Given the description of an element on the screen output the (x, y) to click on. 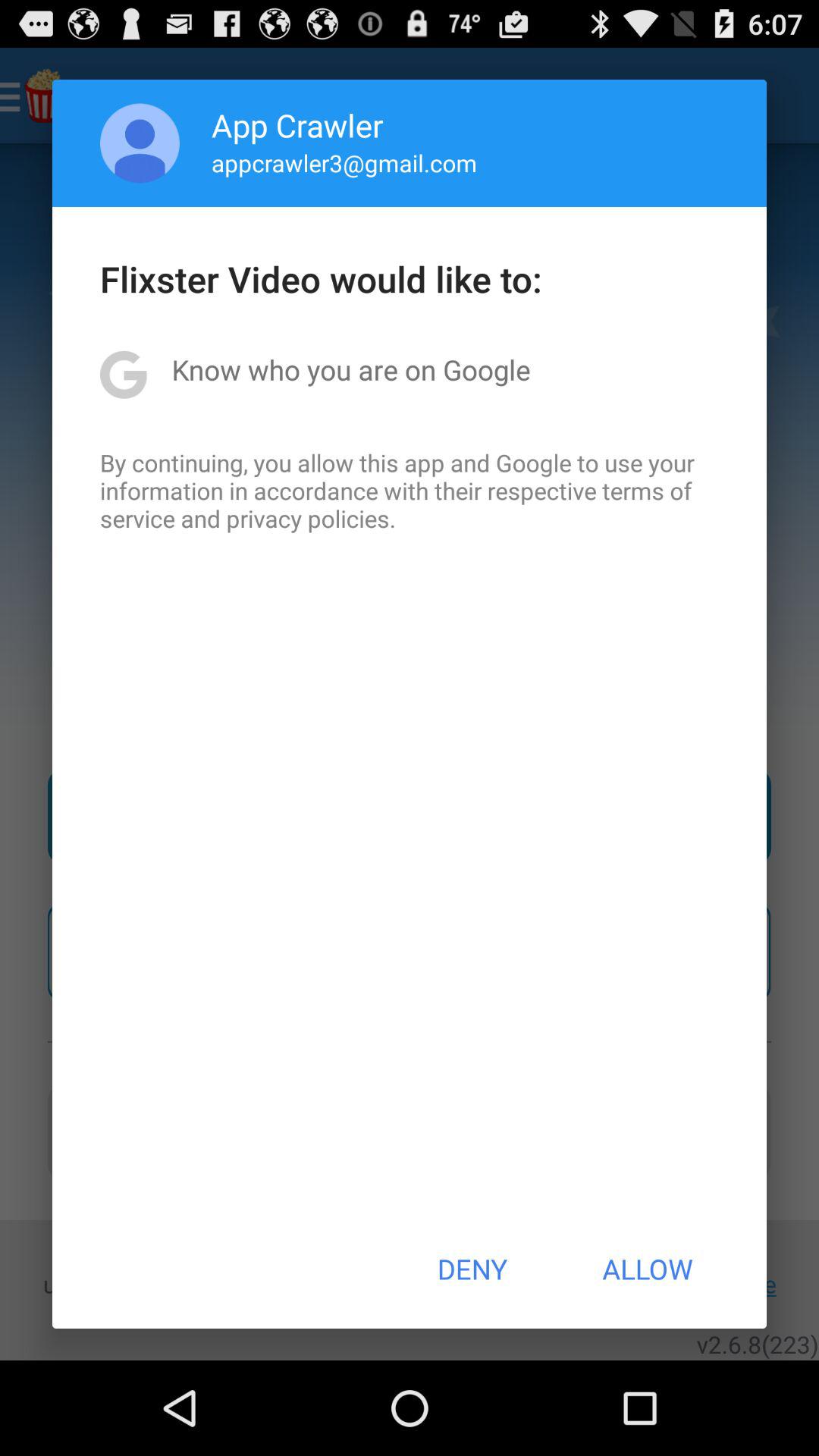
turn off icon at the bottom (471, 1268)
